Given the description of an element on the screen output the (x, y) to click on. 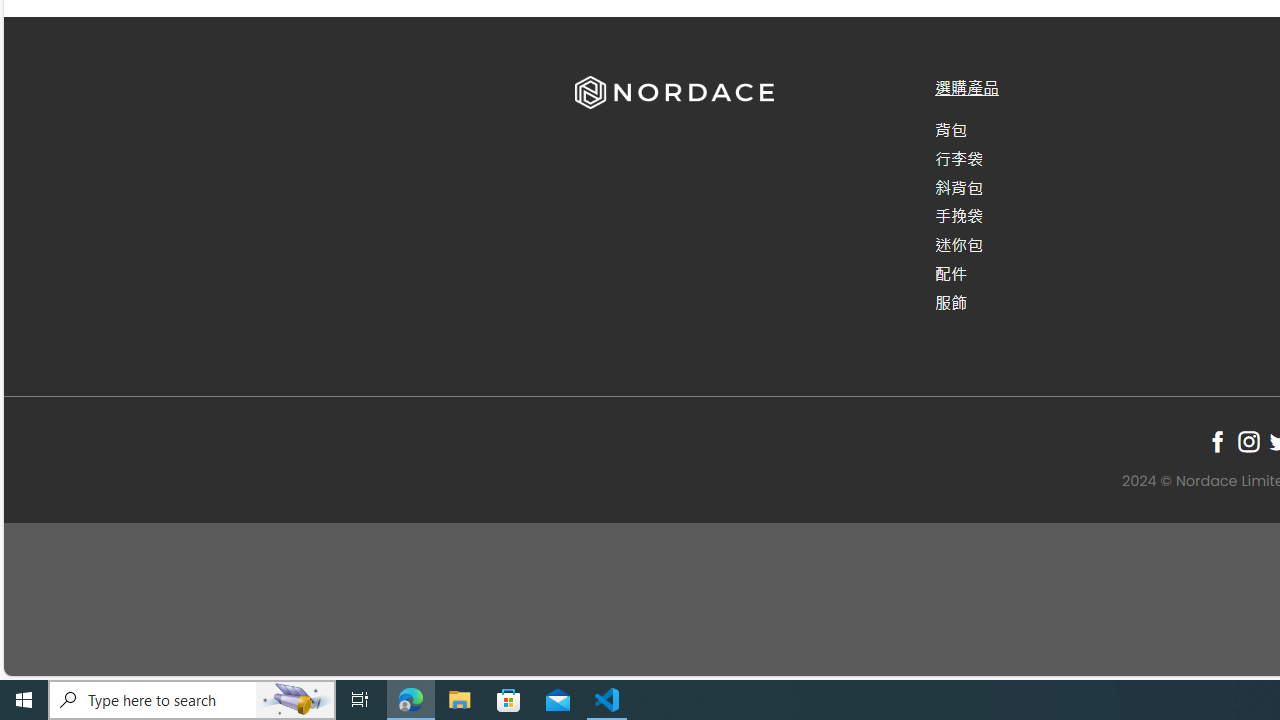
Follow on Instagram (1248, 441)
